Given the description of an element on the screen output the (x, y) to click on. 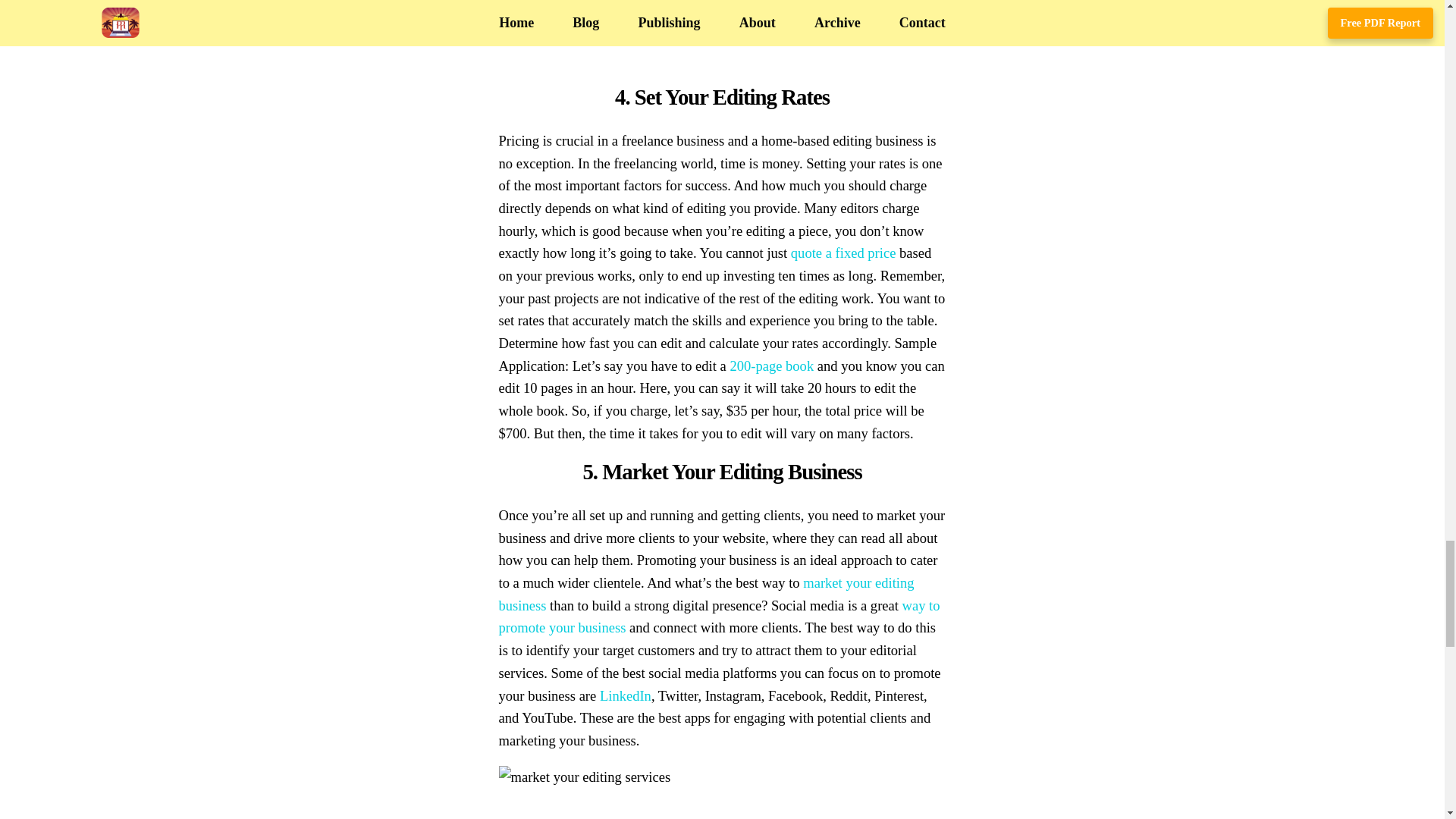
way to promote your business (719, 616)
market your editing business (706, 593)
LinkedIn (624, 695)
200-page book (771, 365)
quote a fixed price (843, 252)
